Given the description of an element on the screen output the (x, y) to click on. 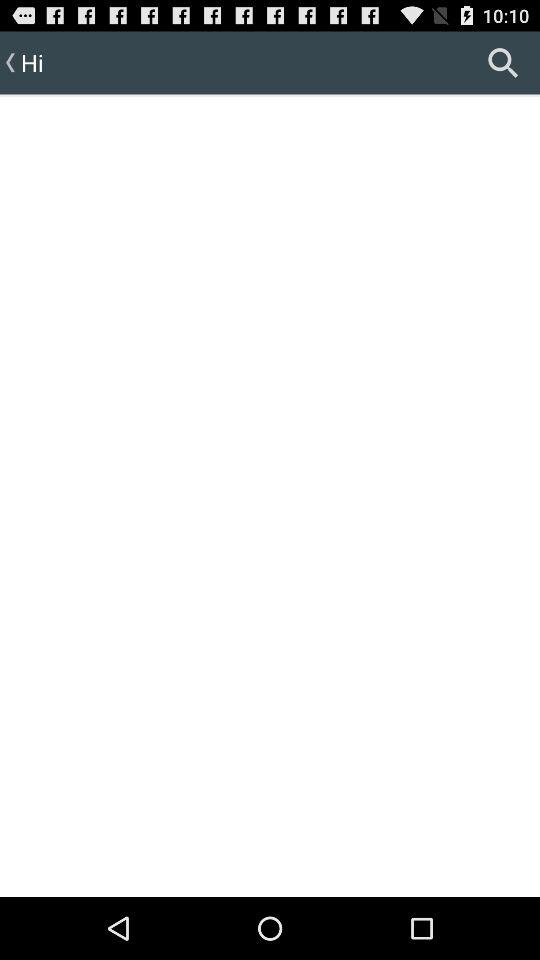
turn on icon at the top right corner (503, 62)
